Given the description of an element on the screen output the (x, y) to click on. 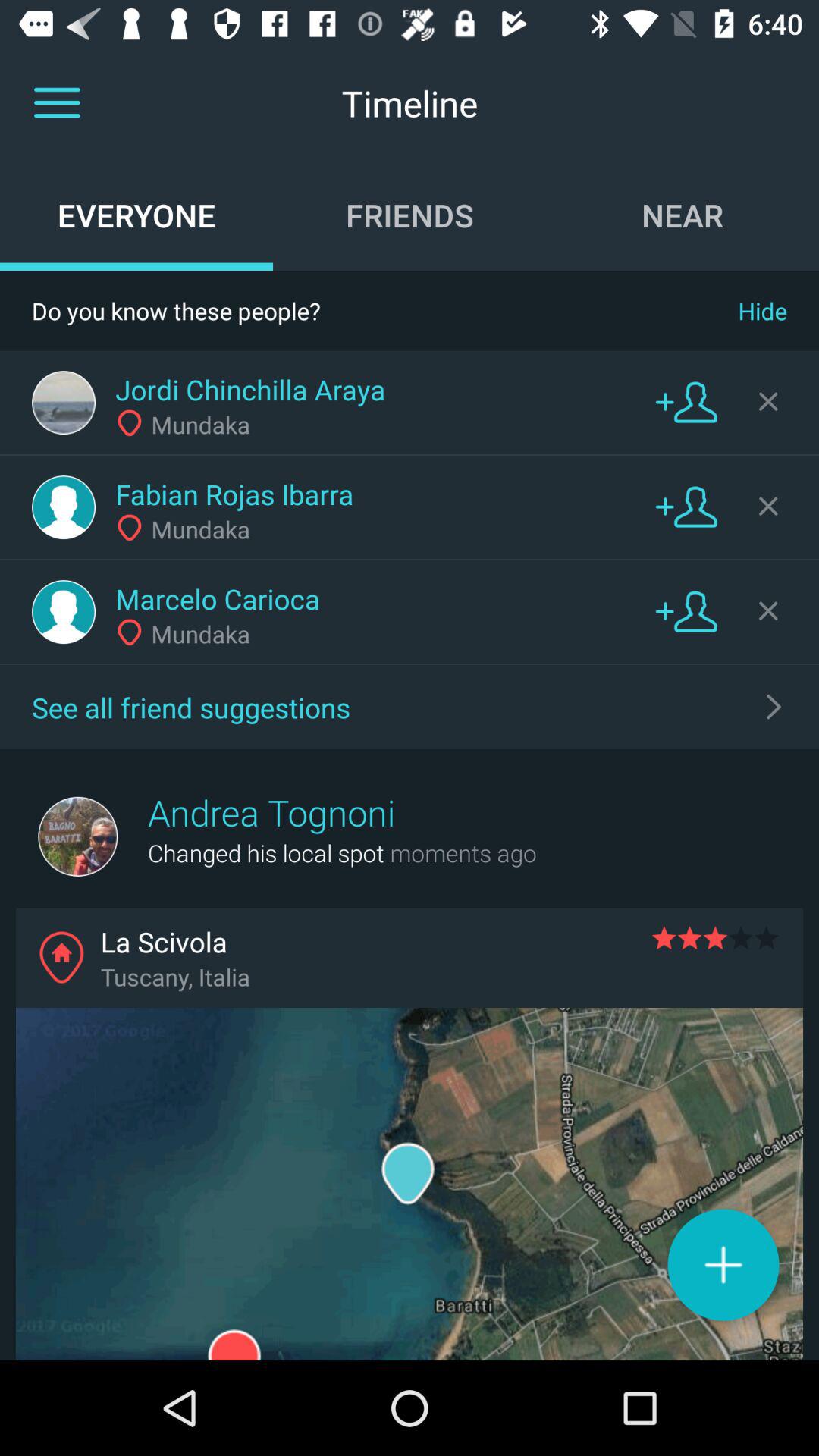
go to profile (63, 507)
